Given the description of an element on the screen output the (x, y) to click on. 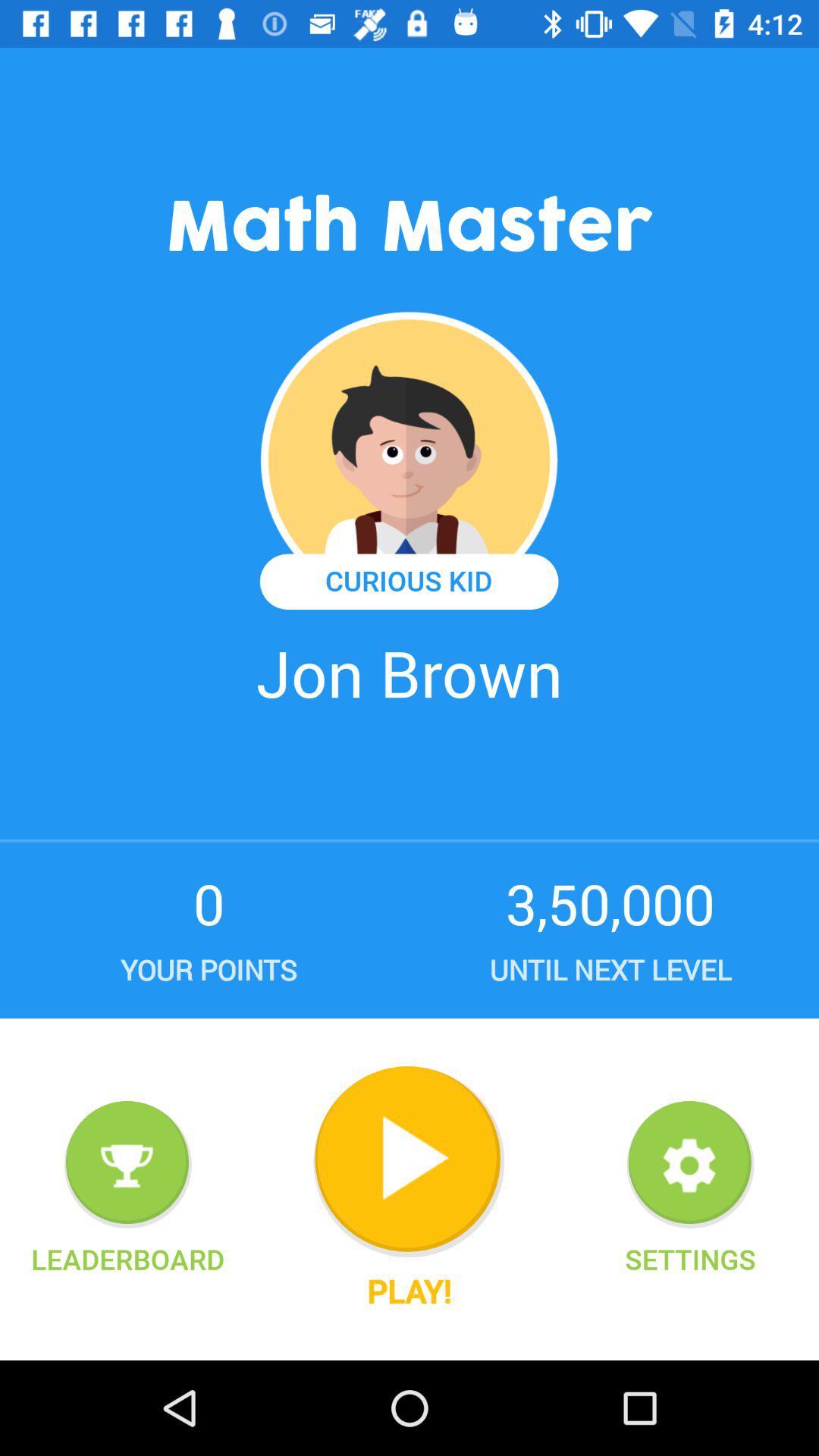
show leaderboard (127, 1164)
